Given the description of an element on the screen output the (x, y) to click on. 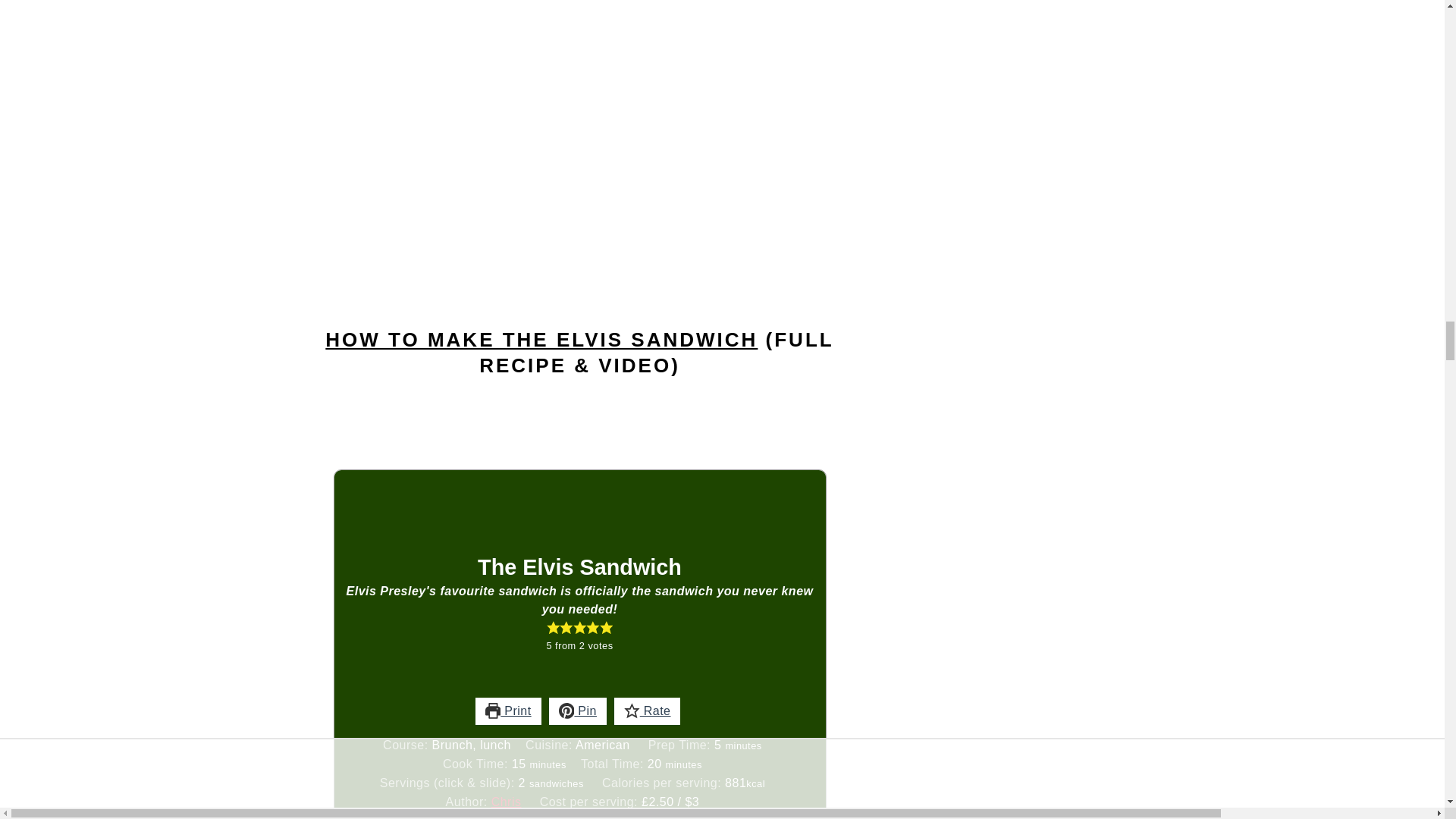
Chris (506, 801)
Pin (577, 710)
Print (508, 710)
Rate (647, 710)
